Given the description of an element on the screen output the (x, y) to click on. 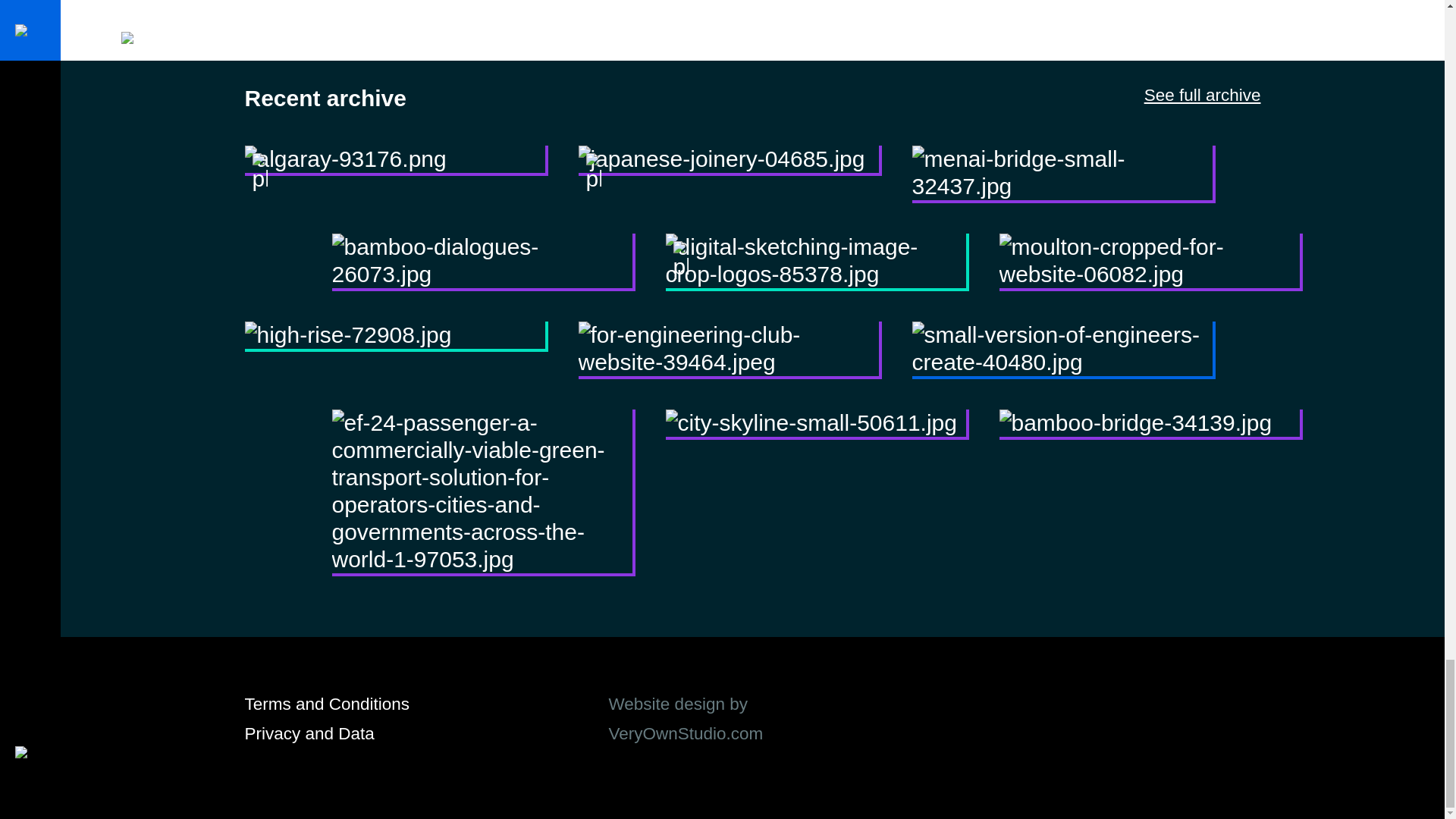
Privacy and Data (309, 733)
VeryOwnStudio.com (685, 733)
Terms and Conditions (326, 703)
See full archive (1202, 95)
